Given the description of an element on the screen output the (x, y) to click on. 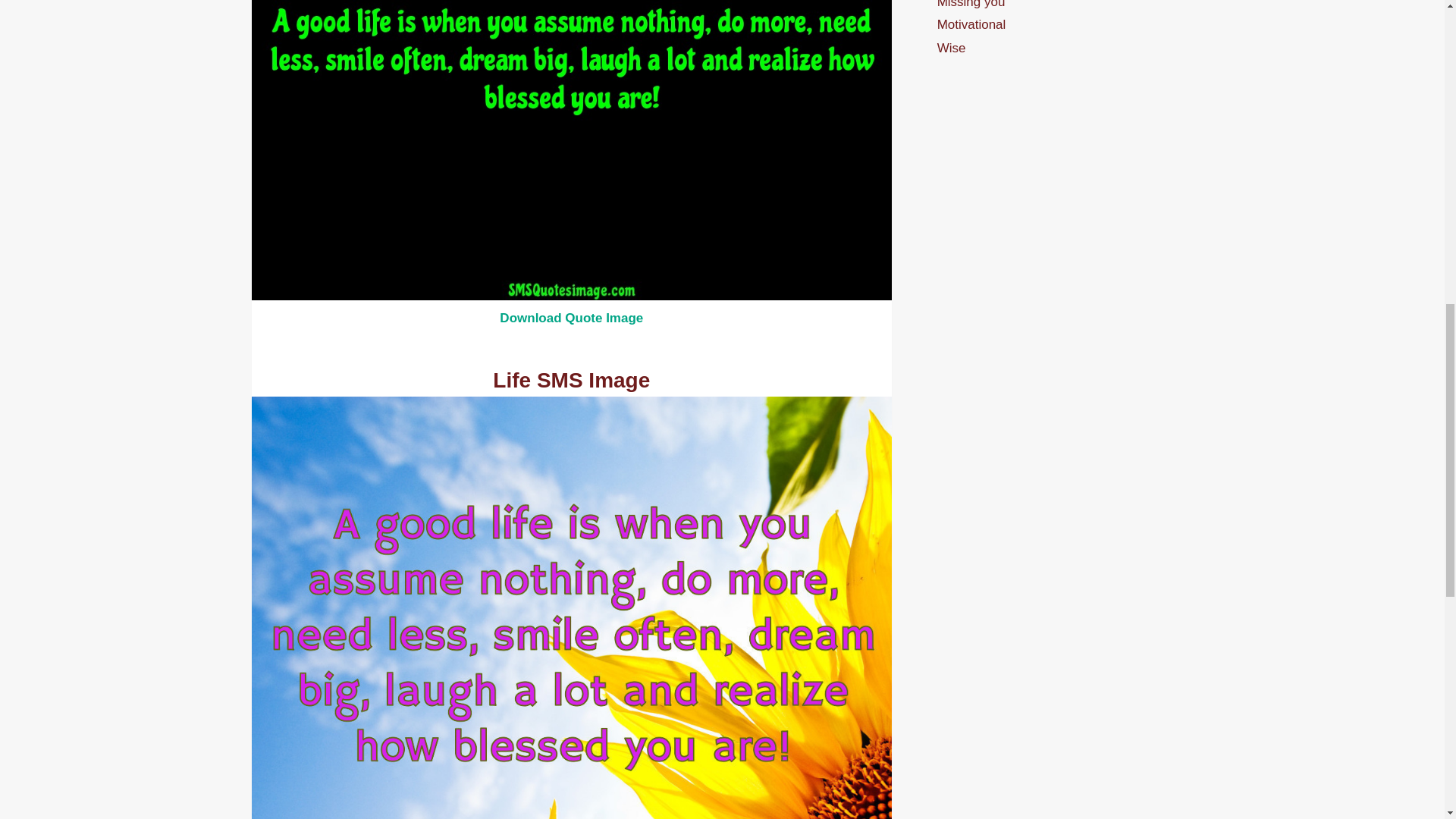
Download Quote Image (571, 318)
